Given the description of an element on the screen output the (x, y) to click on. 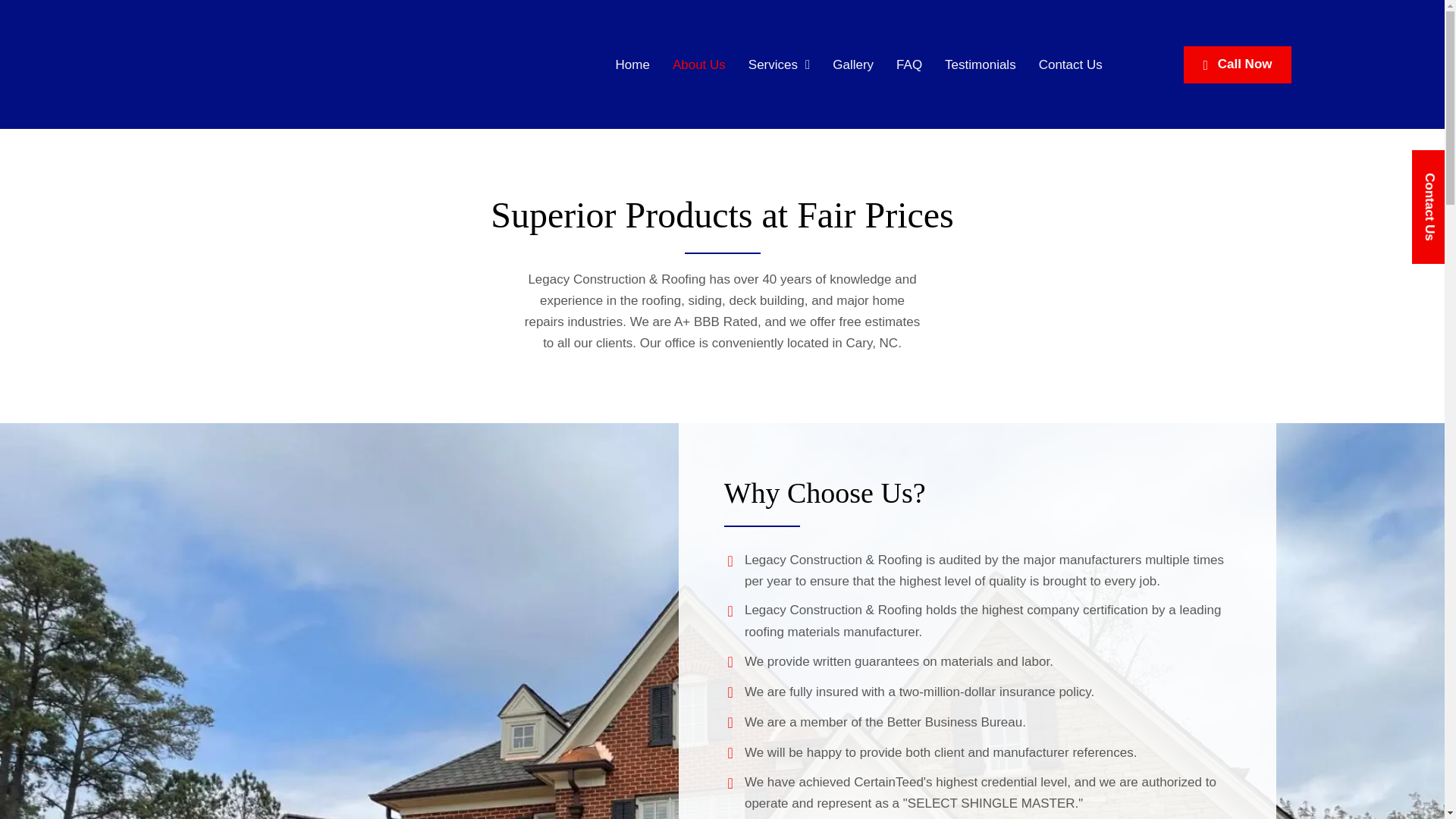
Gallery (852, 63)
Contact Us (1069, 63)
Testimonials (980, 63)
Call Now (1236, 64)
Home (633, 63)
Services (778, 63)
usa-white-transparent-big (225, 64)
About Us (699, 63)
FAQ (909, 63)
